Given the description of an element on the screen output the (x, y) to click on. 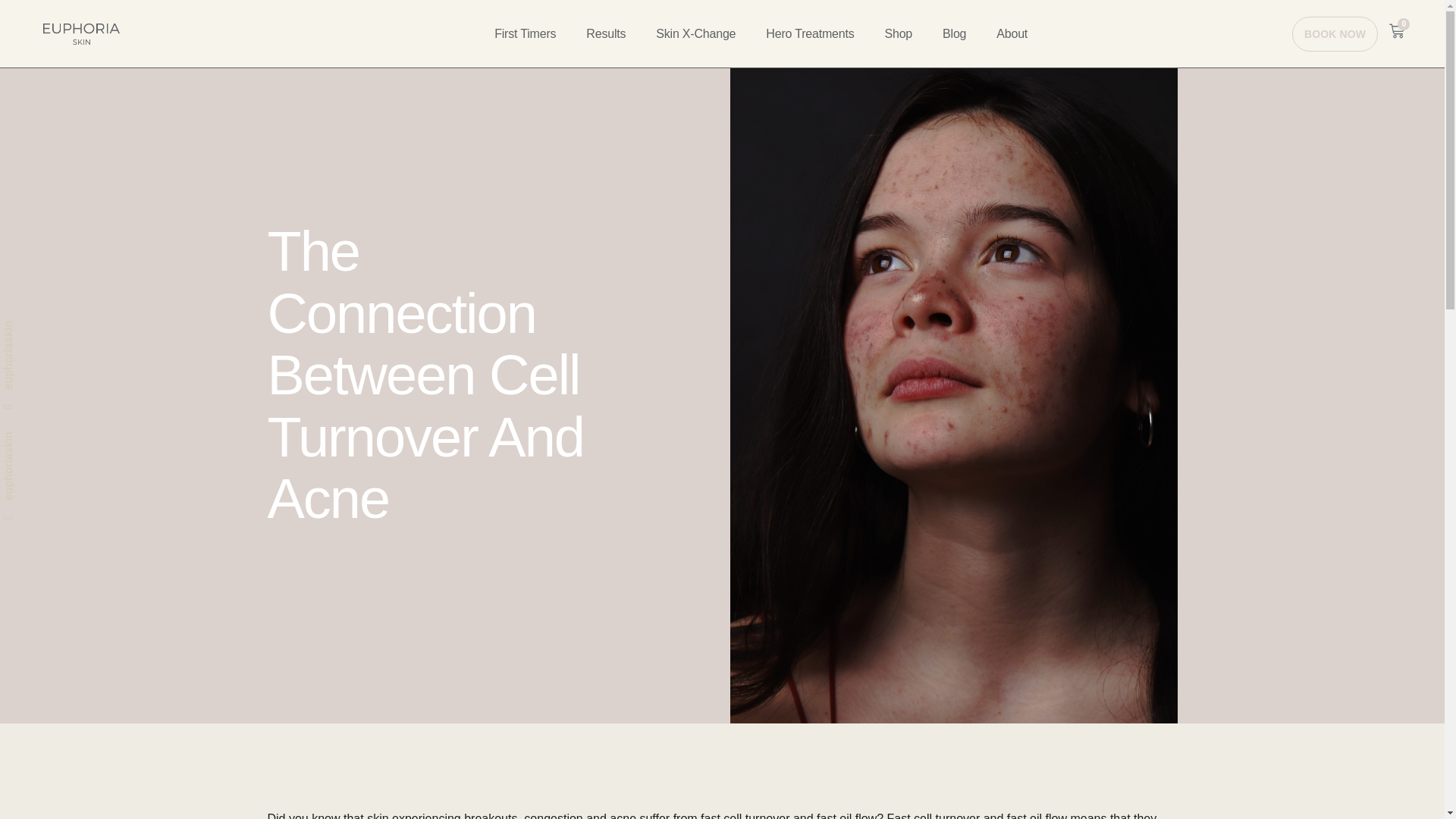
Results (606, 33)
Blog (954, 33)
About (1011, 33)
Shop (897, 33)
Hero Treatments (809, 33)
First Timers (525, 33)
Skin X-Change (695, 33)
